Given the description of an element on the screen output the (x, y) to click on. 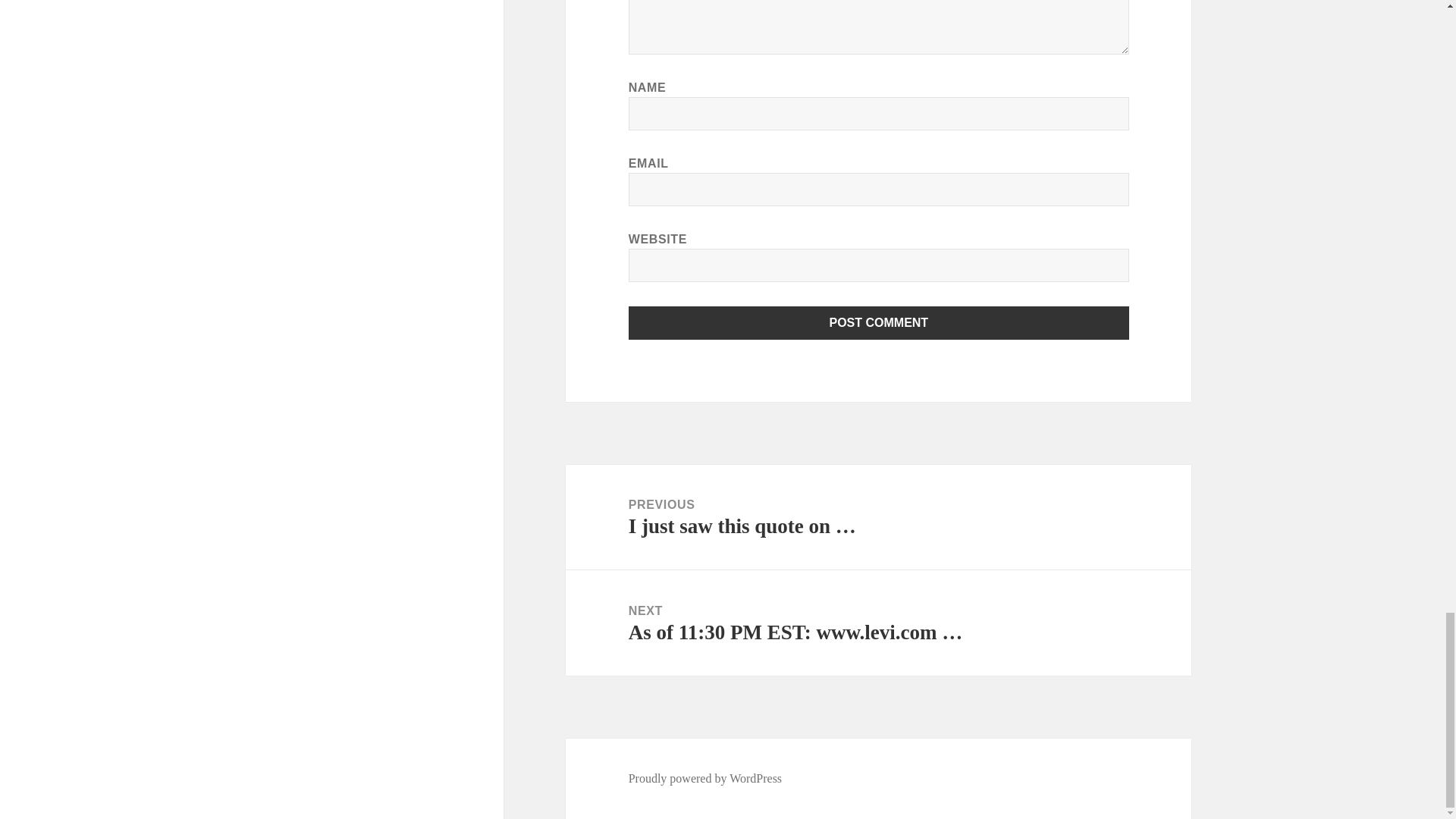
Proudly powered by WordPress (704, 778)
Post Comment (878, 322)
Post Comment (878, 322)
